Given the description of an element on the screen output the (x, y) to click on. 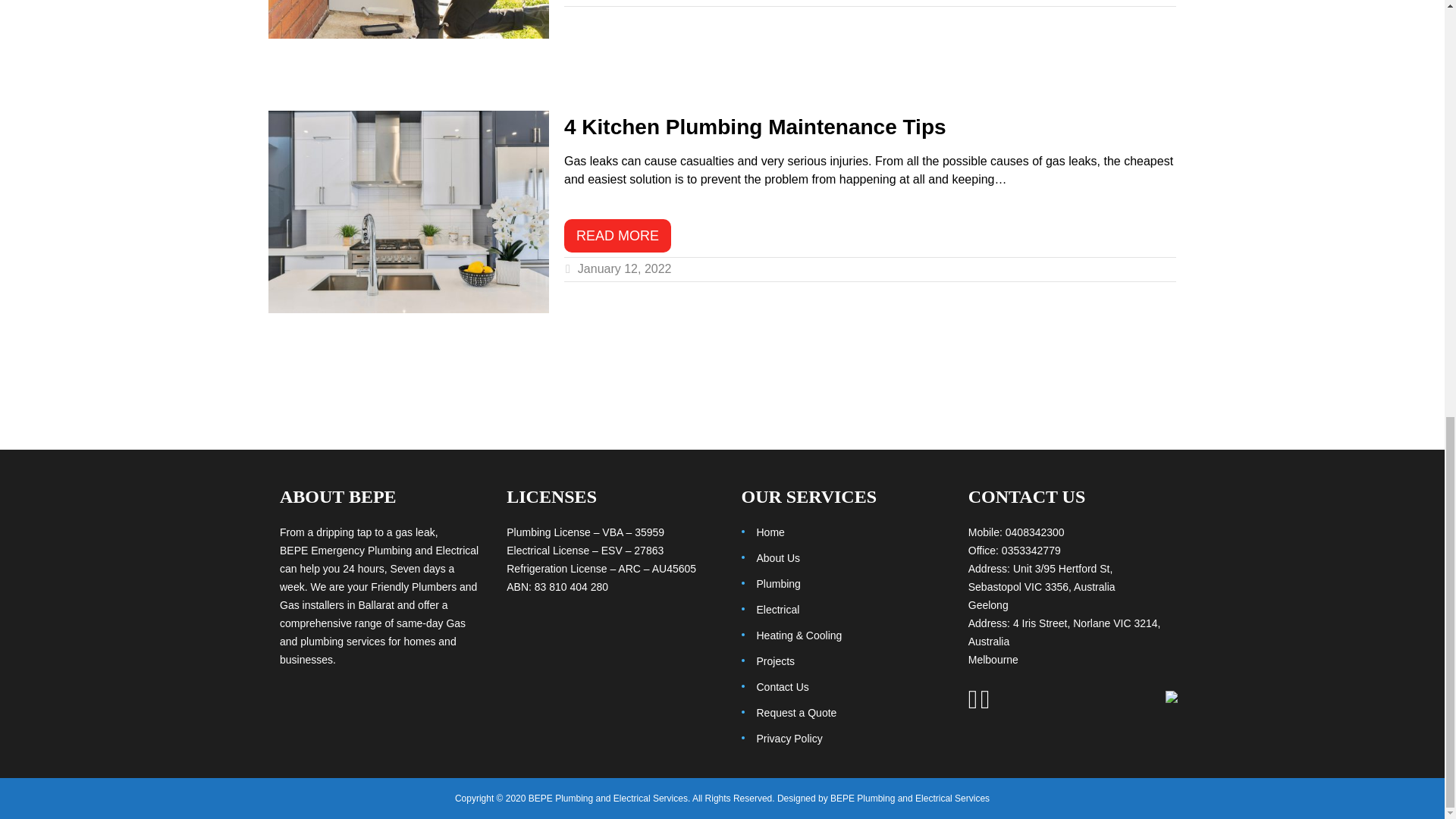
Permalink to 4 Kitchen Plumbing Maintenance Tips (407, 211)
Permalink to 4 Kitchen Plumbing Maintenance Tips (755, 126)
Permalink to Tips on Finding the Right Plumber (407, 19)
Permalink to 4 Kitchen Plumbing Maintenance Tips (617, 235)
